Given the description of an element on the screen output the (x, y) to click on. 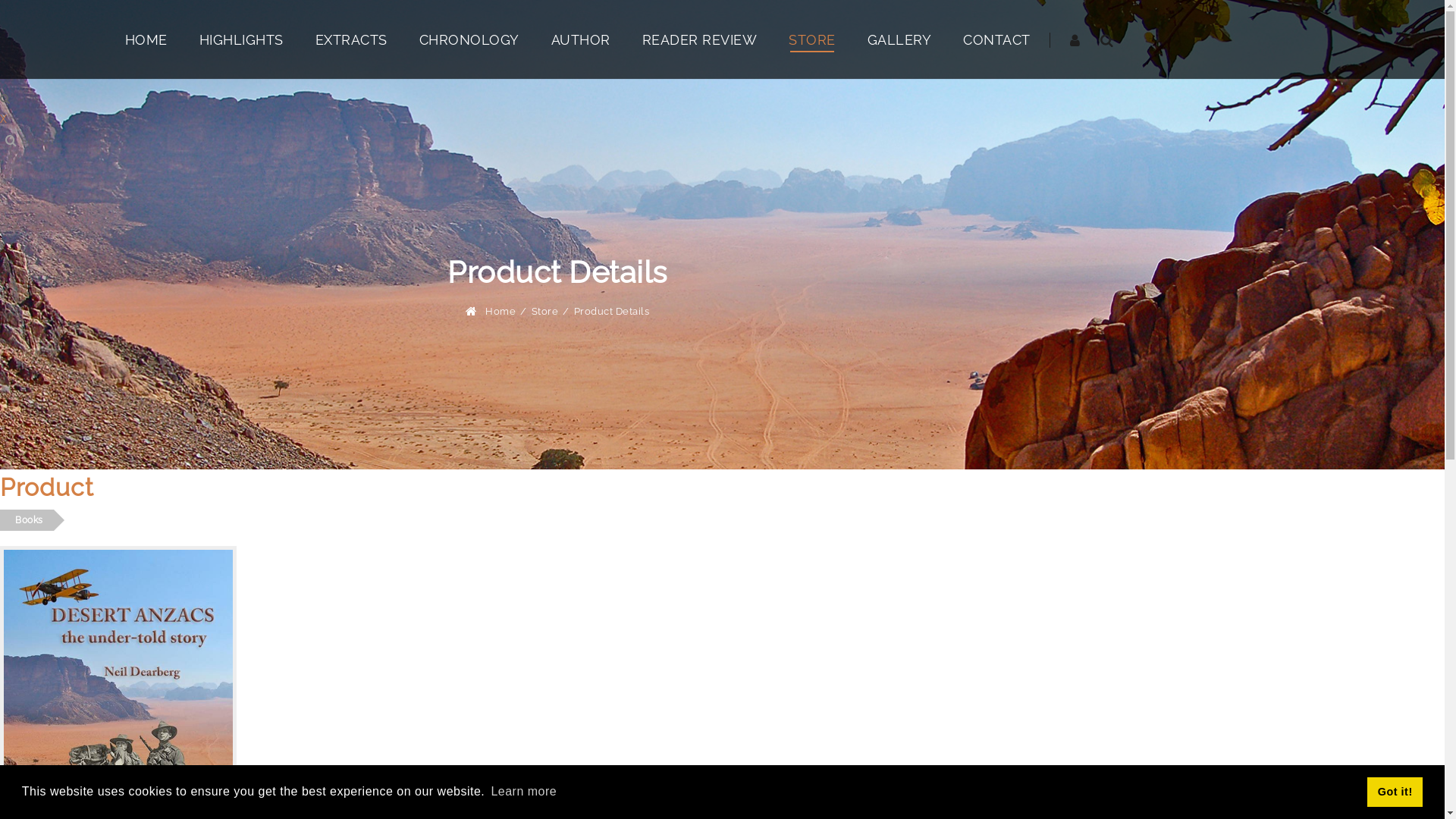
READER REVIEW Element type: text (698, 39)
CONTACT Element type: text (996, 39)
Got it! Element type: text (1394, 791)
Books Element type: text (26, 519)
Desert Anzacs Element type: hover (557, 84)
Home Element type: text (500, 310)
HOME Element type: text (145, 39)
EXTRACTS Element type: text (351, 39)
AUTHOR Element type: text (579, 39)
X Element type: text (3, 118)
HIGHLIGHTS Element type: text (240, 39)
Store Element type: text (544, 310)
STORE Element type: text (811, 39)
Clear search text Element type: hover (1101, 150)
Product Details Element type: text (611, 310)
CHRONOLOGY Element type: text (468, 39)
Learn more Element type: text (523, 791)
GALLERY Element type: text (899, 39)
